Given the description of an element on the screen output the (x, y) to click on. 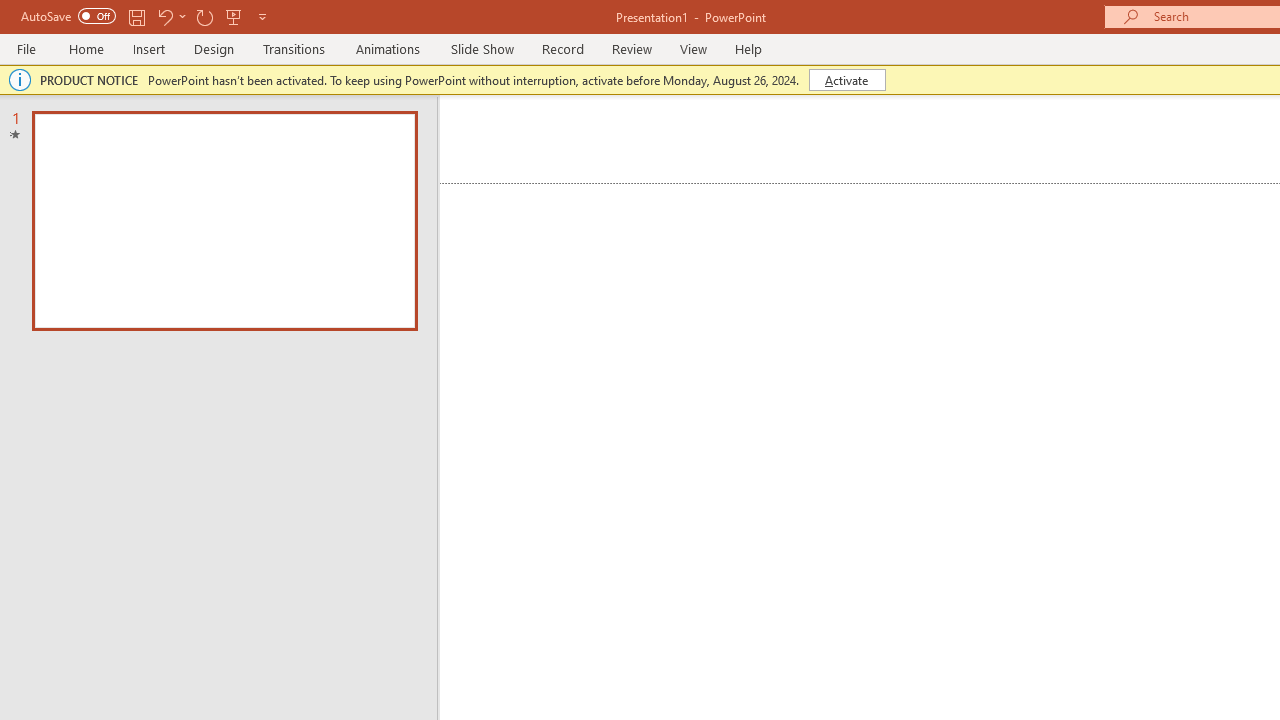
Outline level: (1189, 450)
Align Right (794, 180)
Paragraph... (1115, 226)
Strikethrough (312, 180)
Office Clipboard... (131, 226)
Phonetic Guide... (618, 137)
Text Highlight Color (506, 180)
Shading (993, 180)
